Given the description of an element on the screen output the (x, y) to click on. 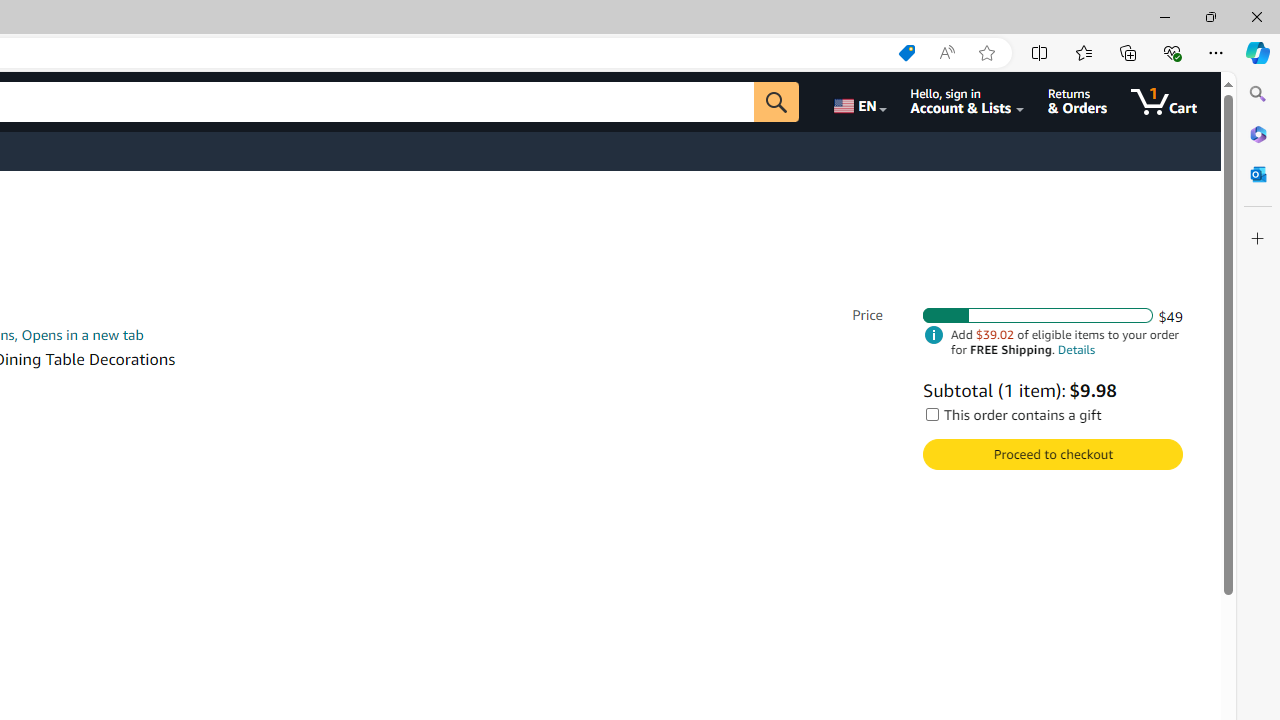
Returns & Orders (1077, 101)
